Given the description of an element on the screen output the (x, y) to click on. 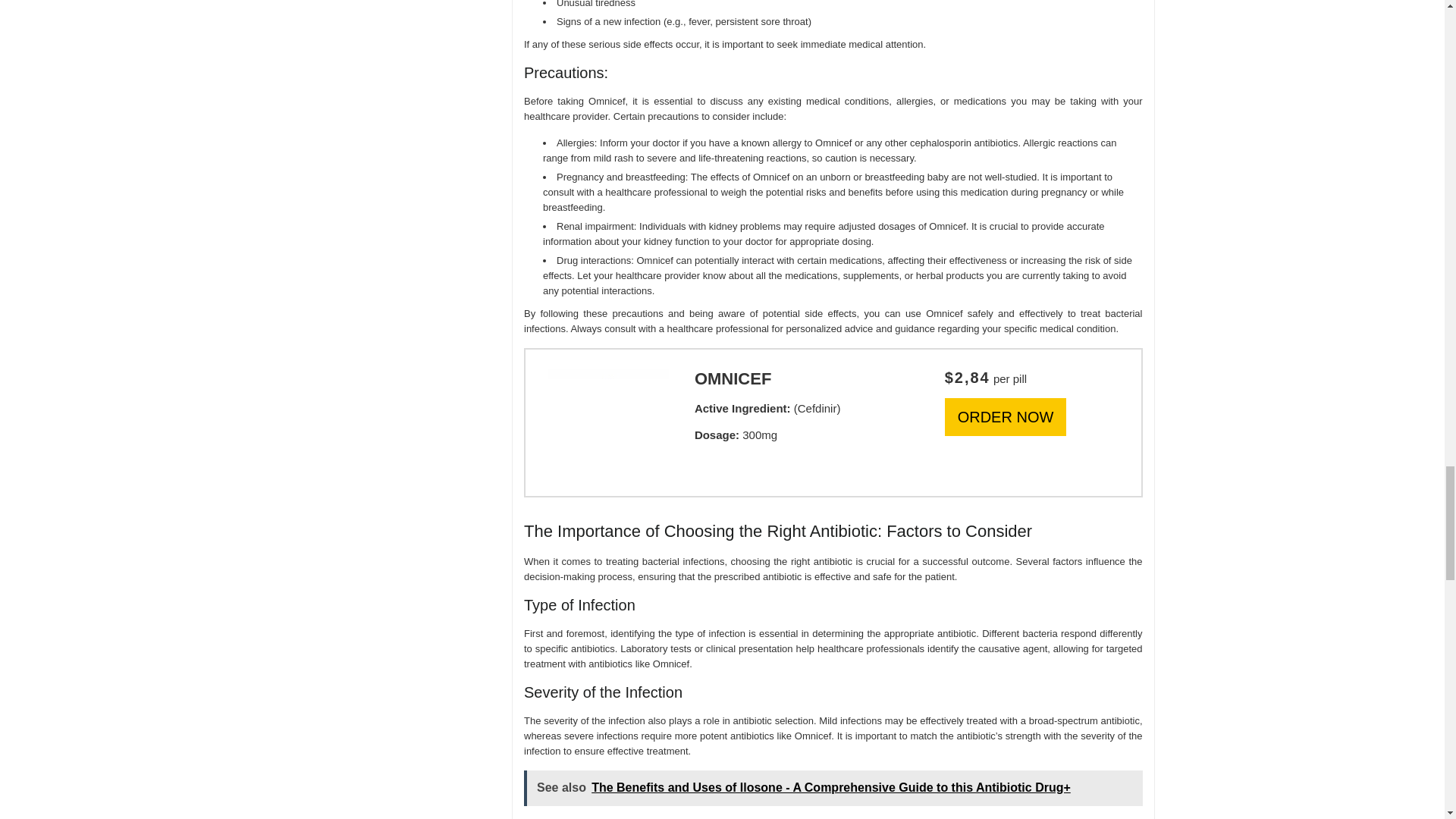
ORDER NOW (1005, 416)
